Given the description of an element on the screen output the (x, y) to click on. 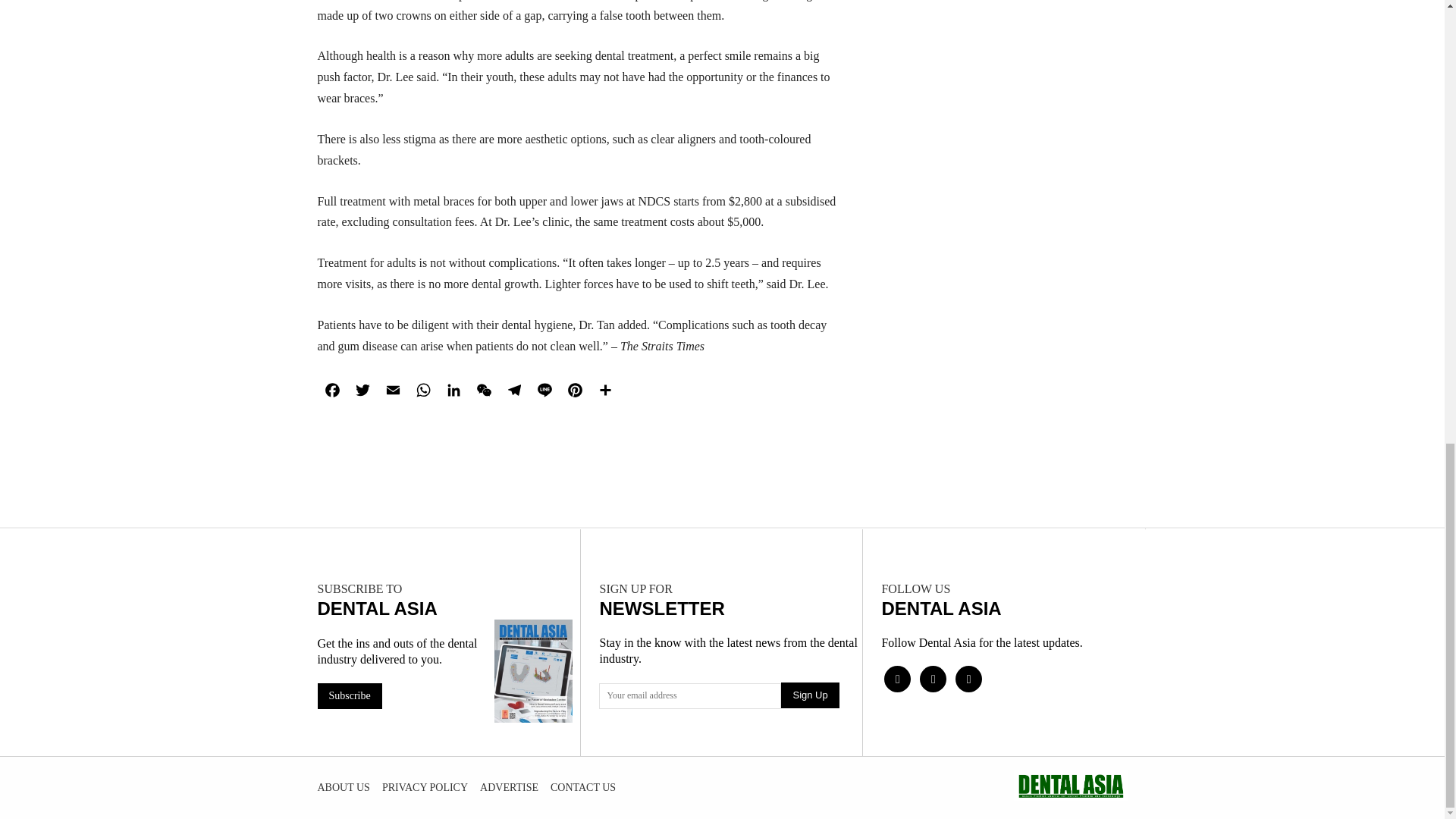
WeChat (483, 390)
Telegram (514, 390)
Facebook (332, 390)
WhatsApp (422, 390)
Twitter (362, 390)
LinkedIn (453, 390)
Email (392, 390)
Line (544, 390)
Sign Up (809, 695)
Subscribe (349, 696)
